Given the description of an element on the screen output the (x, y) to click on. 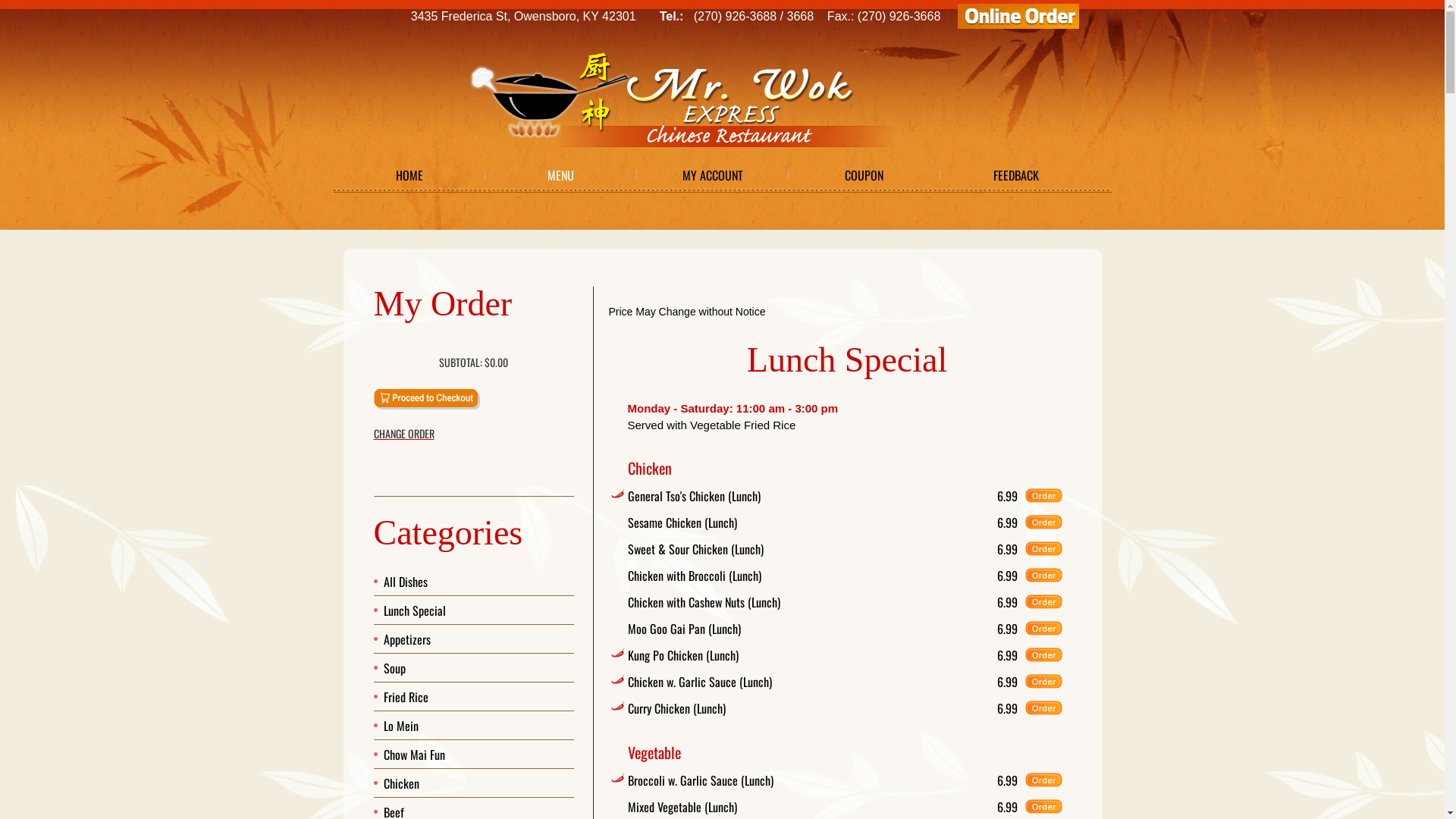
Soup Element type: text (394, 667)
MENU Element type: text (561, 175)
COUPON Element type: text (864, 175)
Lo Mein Element type: text (400, 725)
All Dishes Element type: text (405, 581)
Appetizers Element type: text (406, 639)
FEEDBACK Element type: text (1016, 175)
CHANGE ORDER Element type: text (473, 433)
Lunch Special Element type: text (414, 610)
Chow Mai Fun Element type: text (414, 754)
HOME Element type: text (409, 175)
Chicken Element type: text (401, 783)
MY ACCOUNT Element type: text (712, 175)
Fried Rice Element type: text (405, 696)
